Given the description of an element on the screen output the (x, y) to click on. 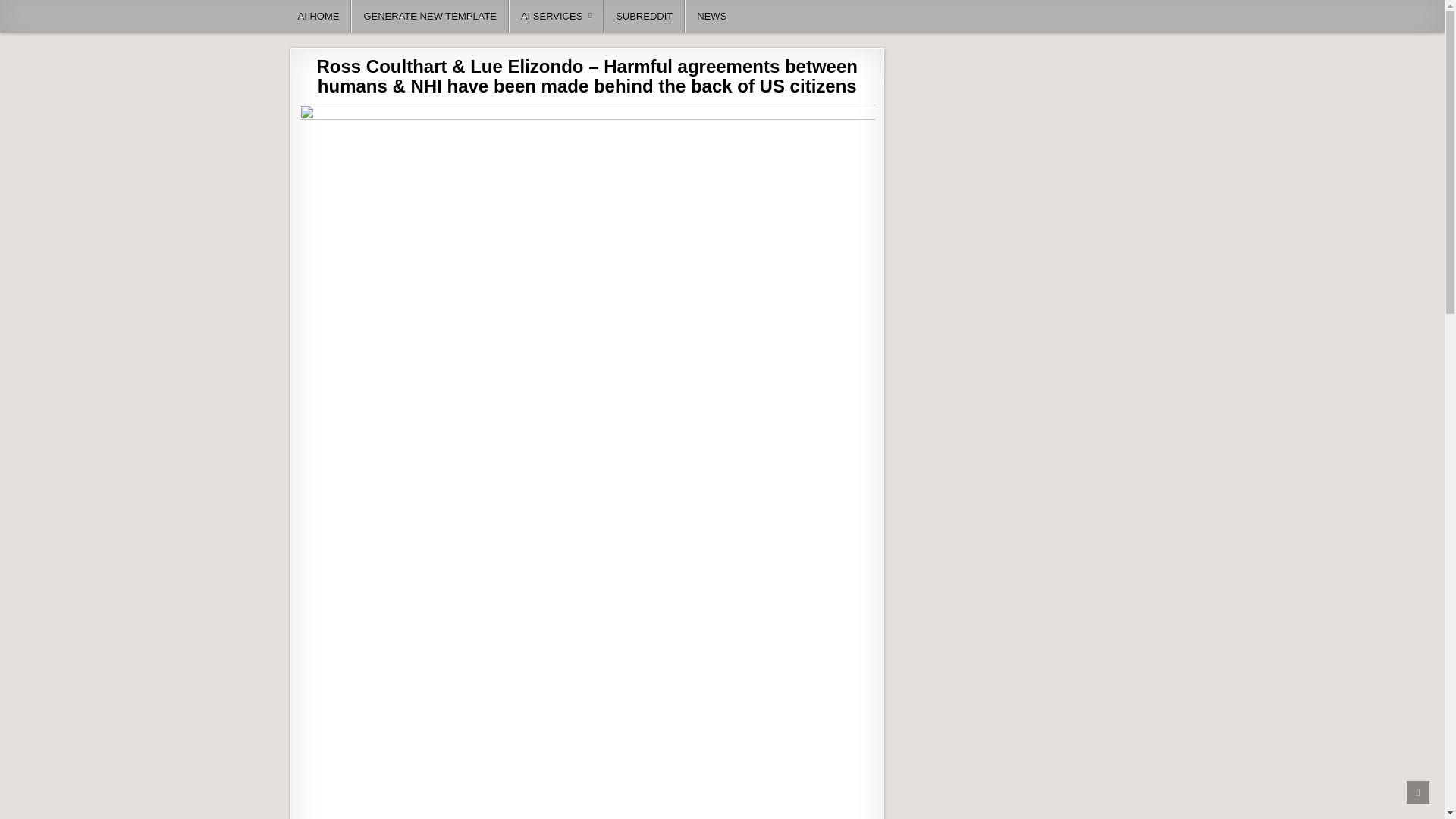
GENERATE NEW TEMPLATE (429, 16)
SCROLL TO TOP (1417, 792)
AI SERVICES (556, 16)
SCROLL TO TOP (1417, 792)
NEWS (711, 16)
AI HOME (319, 16)
SUBREDDIT (644, 16)
Scroll to Top (1417, 792)
